Given the description of an element on the screen output the (x, y) to click on. 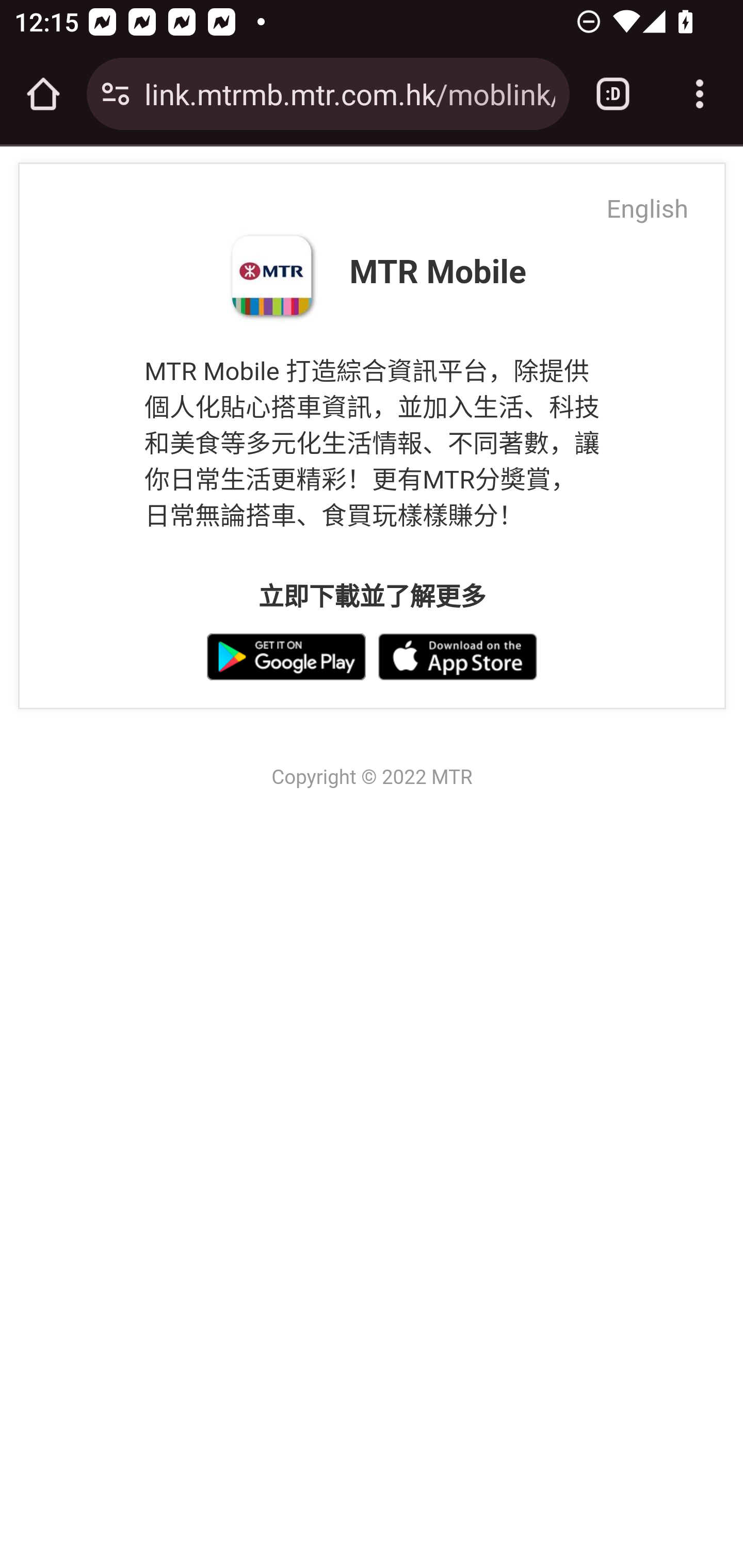
Open the home page (43, 93)
Connection is secure (115, 93)
Switch or close tabs (612, 93)
Customize and control Google Chrome (699, 93)
English (664, 195)
app_store_a (291, 655)
app_store_i (457, 655)
